Given the description of an element on the screen output the (x, y) to click on. 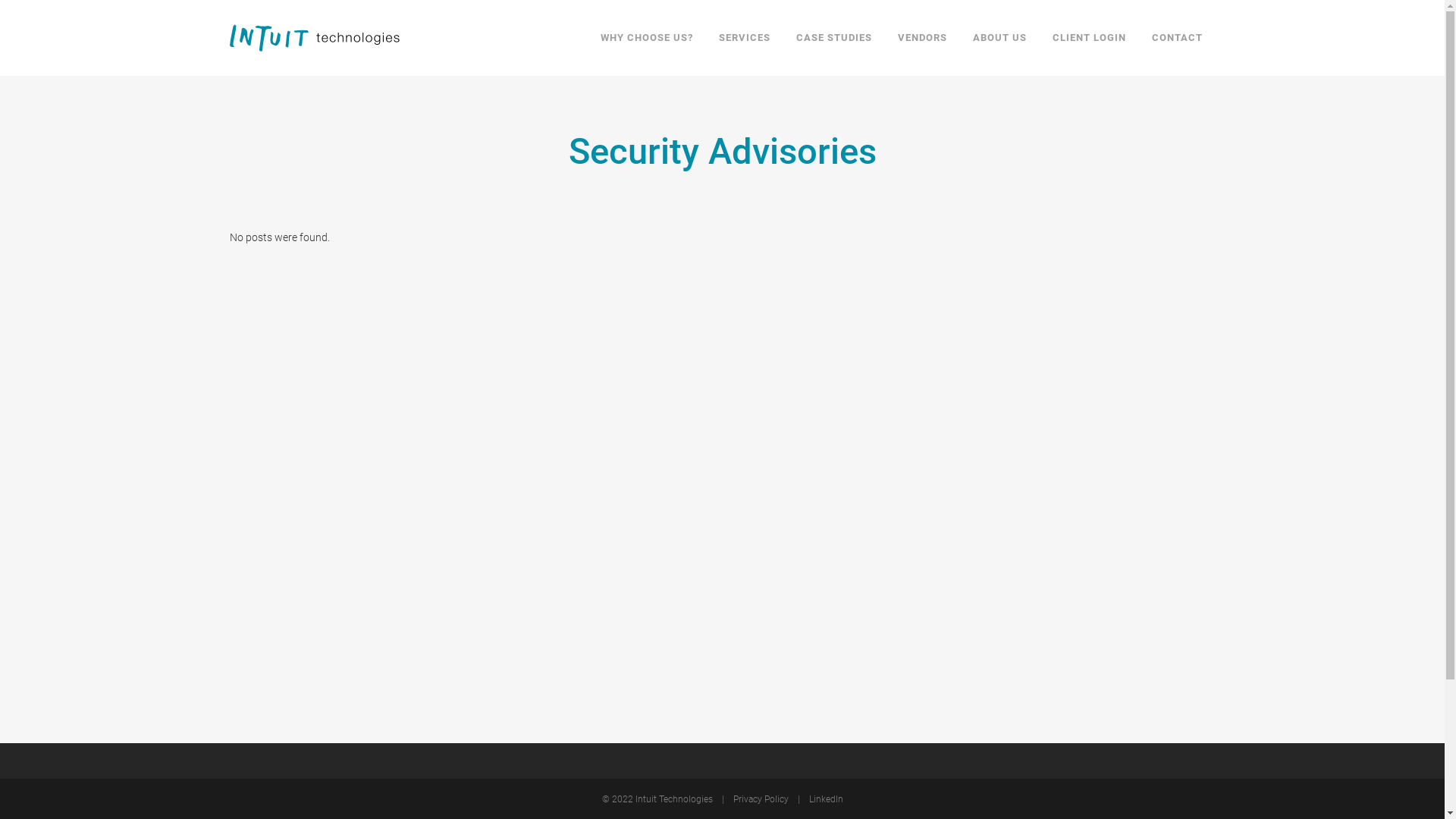
LinkedIn Element type: text (820, 798)
CLIENT LOGIN Element type: text (1088, 37)
WHY CHOOSE US? Element type: text (645, 37)
SERVICES Element type: text (743, 37)
ABOUT US Element type: text (999, 37)
VENDORS Element type: text (921, 37)
Privacy Policy Element type: text (760, 798)
CONTACT Element type: text (1177, 37)
CASE STUDIES Element type: text (833, 37)
